Given the description of an element on the screen output the (x, y) to click on. 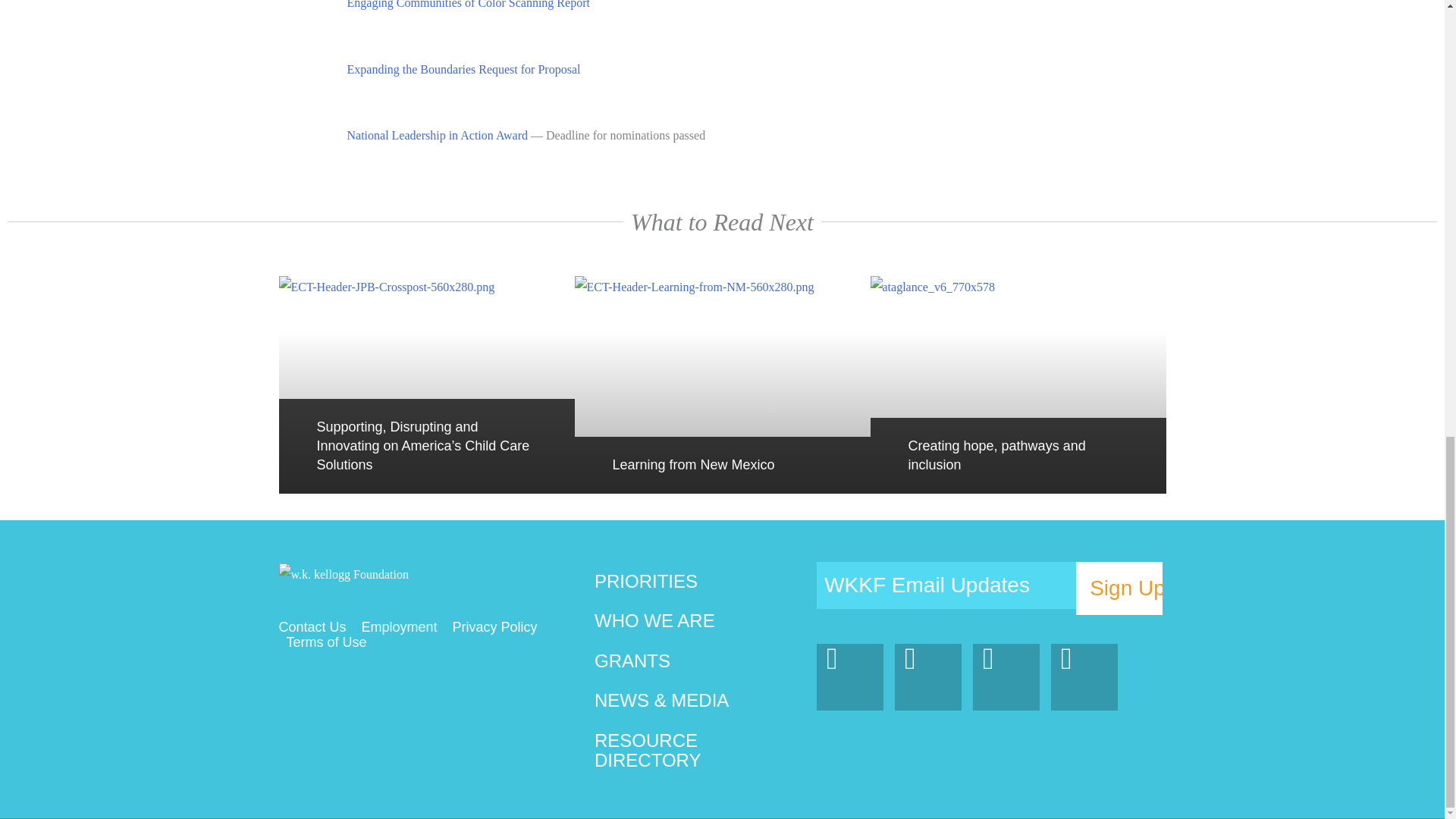
Sign Up (1118, 588)
